Given the description of an element on the screen output the (x, y) to click on. 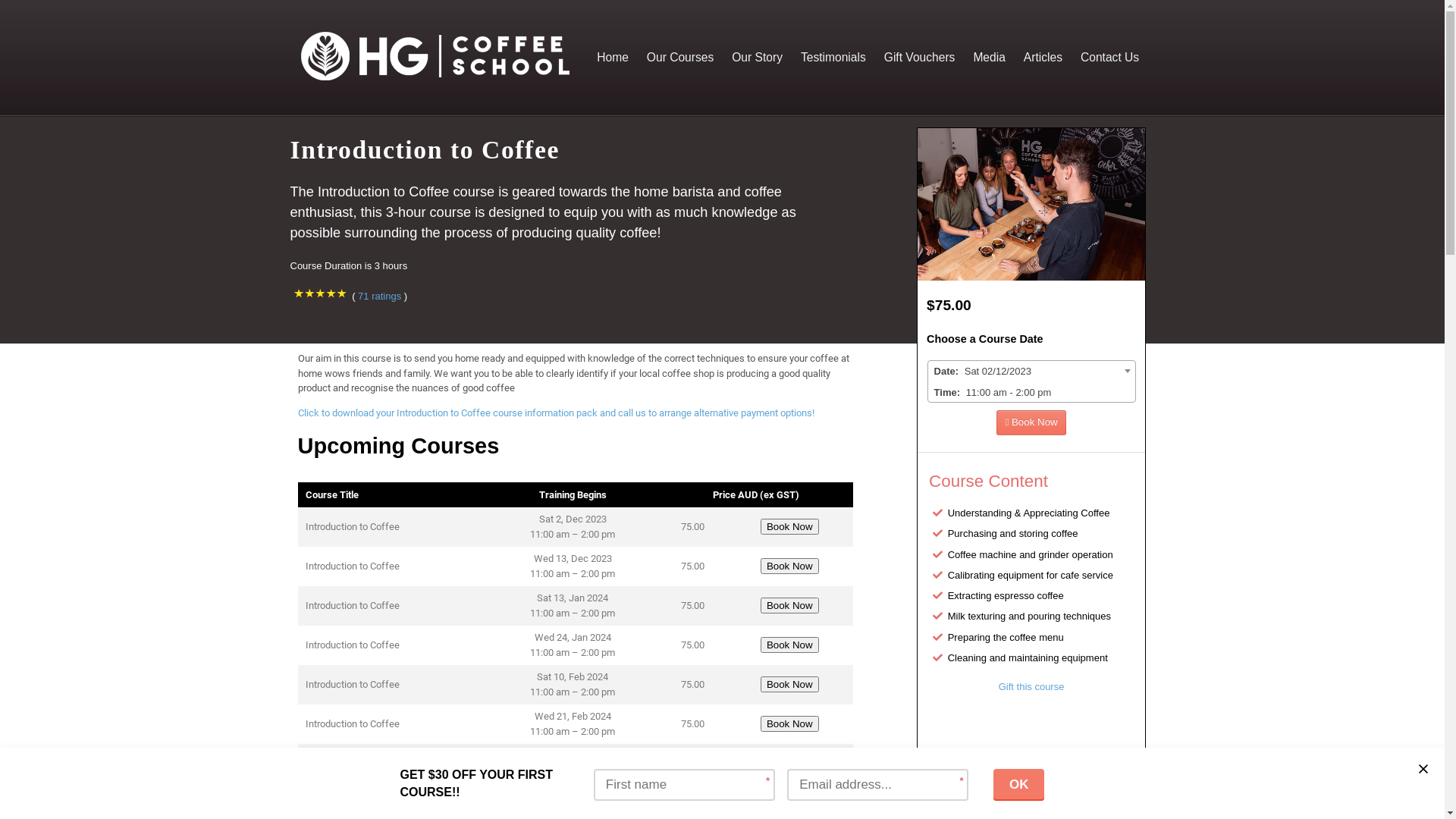
Book Now Element type: text (789, 566)
  Element type: text (1423, 768)
71 ratings Element type: text (379, 295)
OK Element type: text (1018, 784)
Book Now Element type: text (789, 605)
Contact Us Element type: text (1109, 57)
Book Now Element type: text (1030, 422)
Articles Element type: text (1042, 57)
Media Element type: text (988, 57)
Home Element type: text (612, 57)
Book Now Element type: text (789, 723)
Book Now Element type: text (789, 763)
Book Now Element type: text (789, 644)
Book Now Element type: text (789, 526)
Our Story Element type: text (756, 57)
Gift Vouchers Element type: text (919, 57)
Our Courses Element type: text (679, 57)
Testimonials Element type: text (833, 57)
Gift this course Element type: text (1031, 686)
Book Now Element type: text (789, 684)
